Given the description of an element on the screen output the (x, y) to click on. 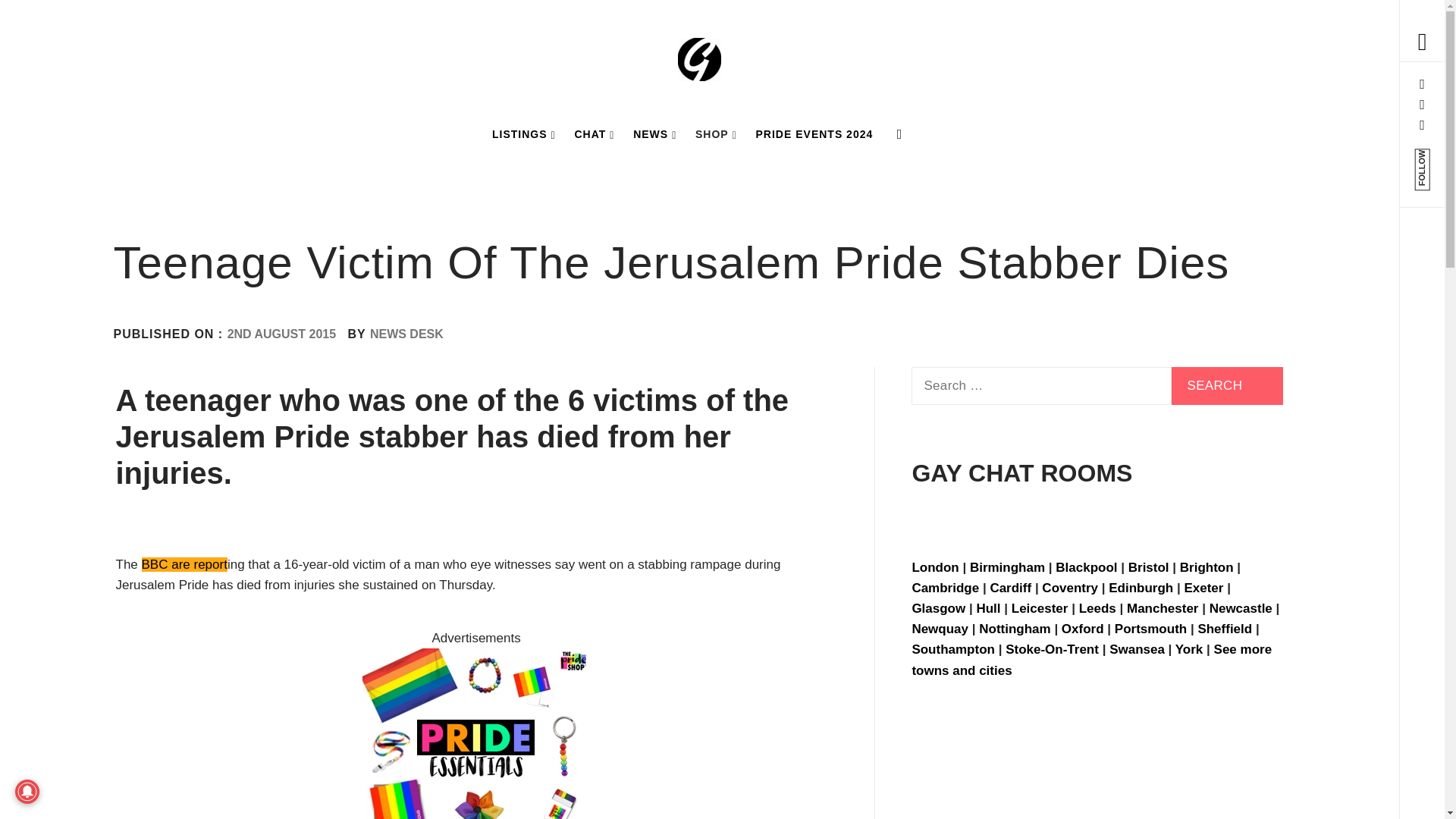
Search (646, 37)
Search (1227, 385)
NEWS DESK (406, 333)
Search (1227, 385)
LISTINGS (523, 134)
SHOP (715, 134)
2ND AUGUST 2015 (281, 333)
CHAT (593, 134)
NEWS (655, 134)
PRIDE EVENTS 2024 (814, 134)
BBC are report (184, 564)
